Given the description of an element on the screen output the (x, y) to click on. 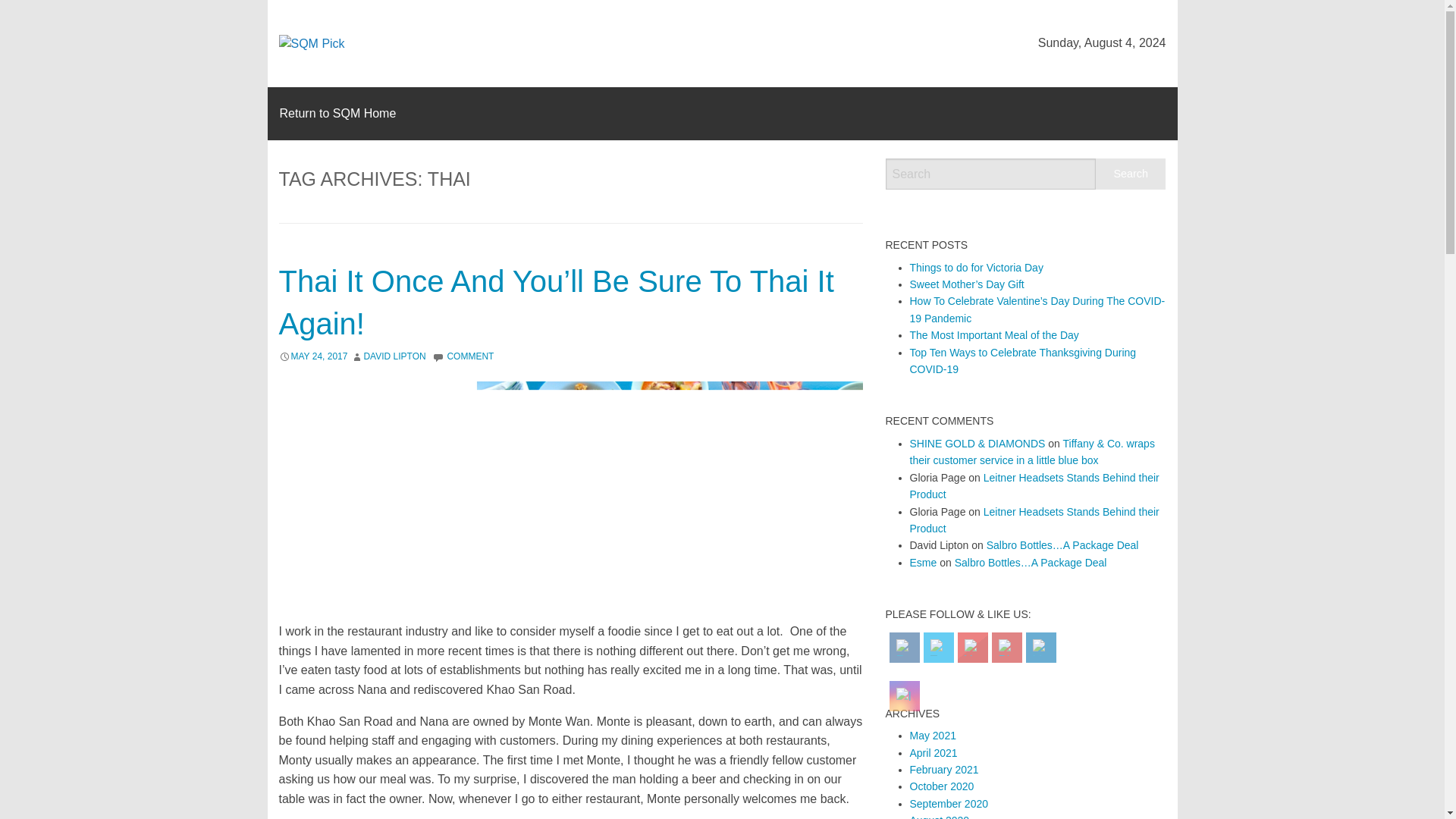
MAY 24, 2017 (319, 356)
PINTEREST (1005, 647)
The Most Important Meal of the Day (994, 335)
Return to SQM Home (336, 113)
Facebook (904, 647)
COMMENT (469, 356)
Twitter (938, 647)
YouTube (972, 647)
Things to do for Victoria Day (976, 267)
Leitner Headsets Stands Behind their Product (1034, 519)
Top Ten Ways to Celebrate Thanksgiving During COVID-19 (1023, 360)
Search (1131, 173)
DAVID LIPTON (393, 356)
Leitner Headsets Stands Behind their Product (1034, 485)
LinkedIn (1040, 647)
